Given the description of an element on the screen output the (x, y) to click on. 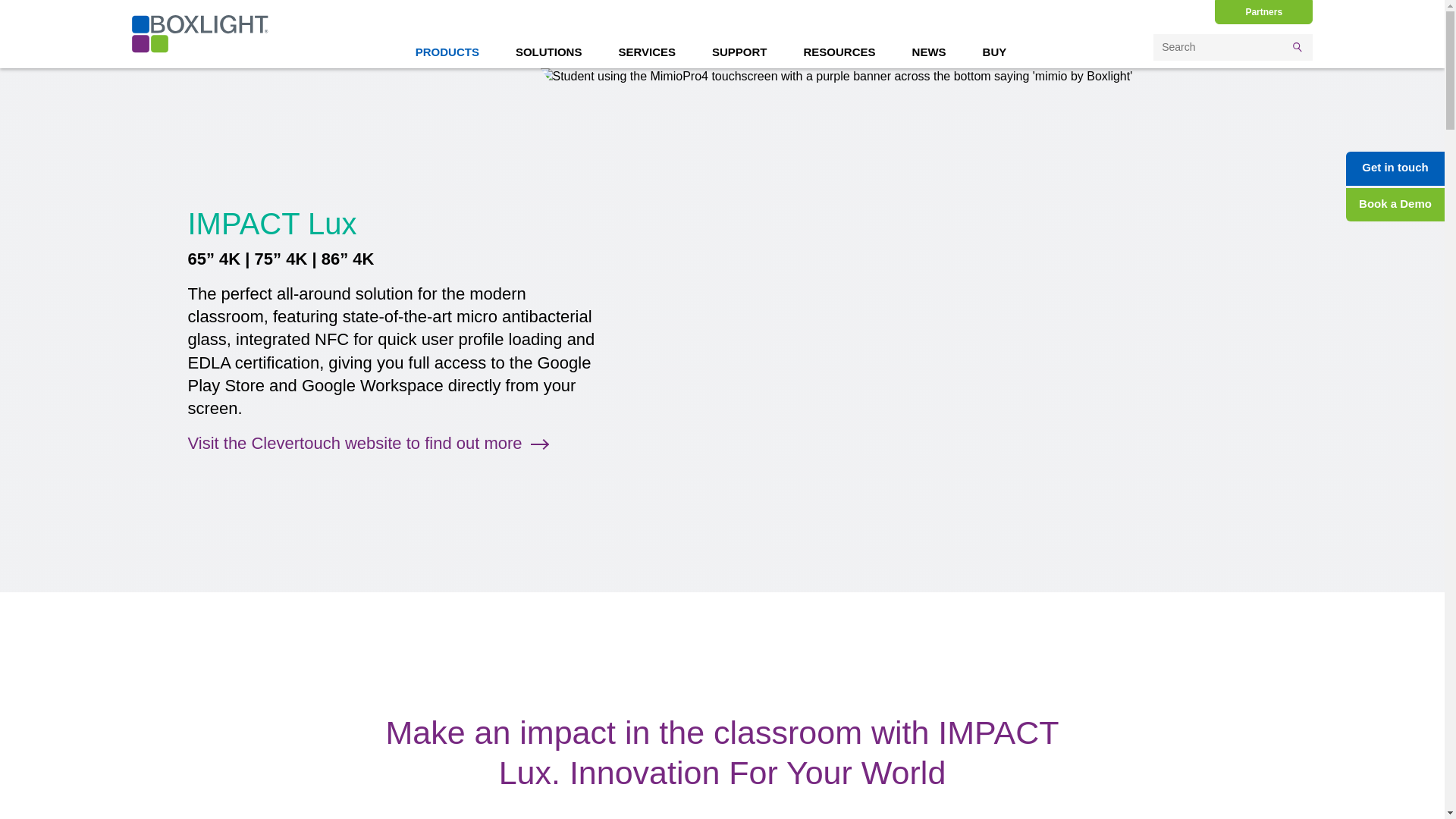
Partners (1263, 12)
PRODUCTS (447, 51)
